Given the description of an element on the screen output the (x, y) to click on. 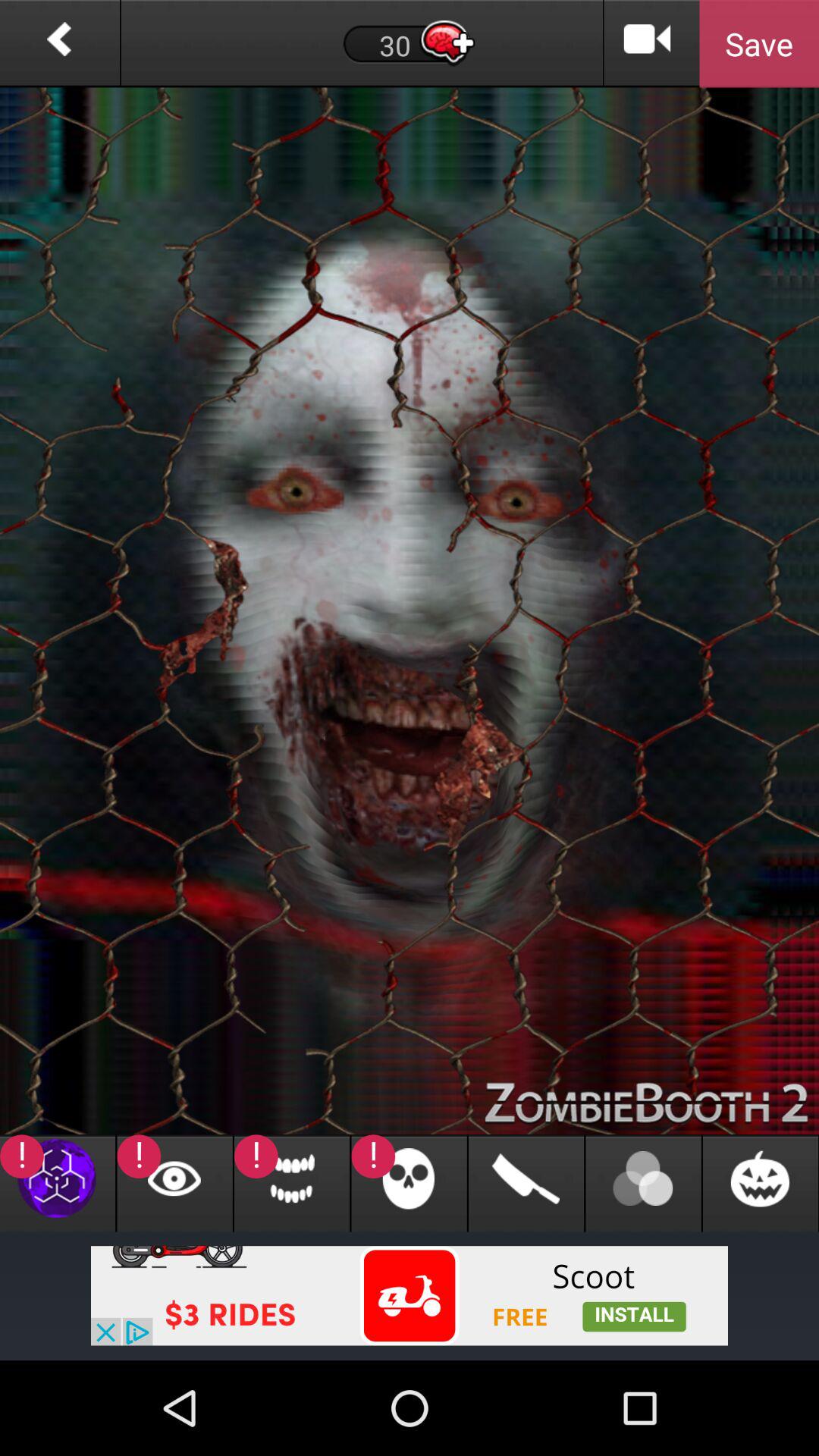
go to previous (59, 43)
